Given the description of an element on the screen output the (x, y) to click on. 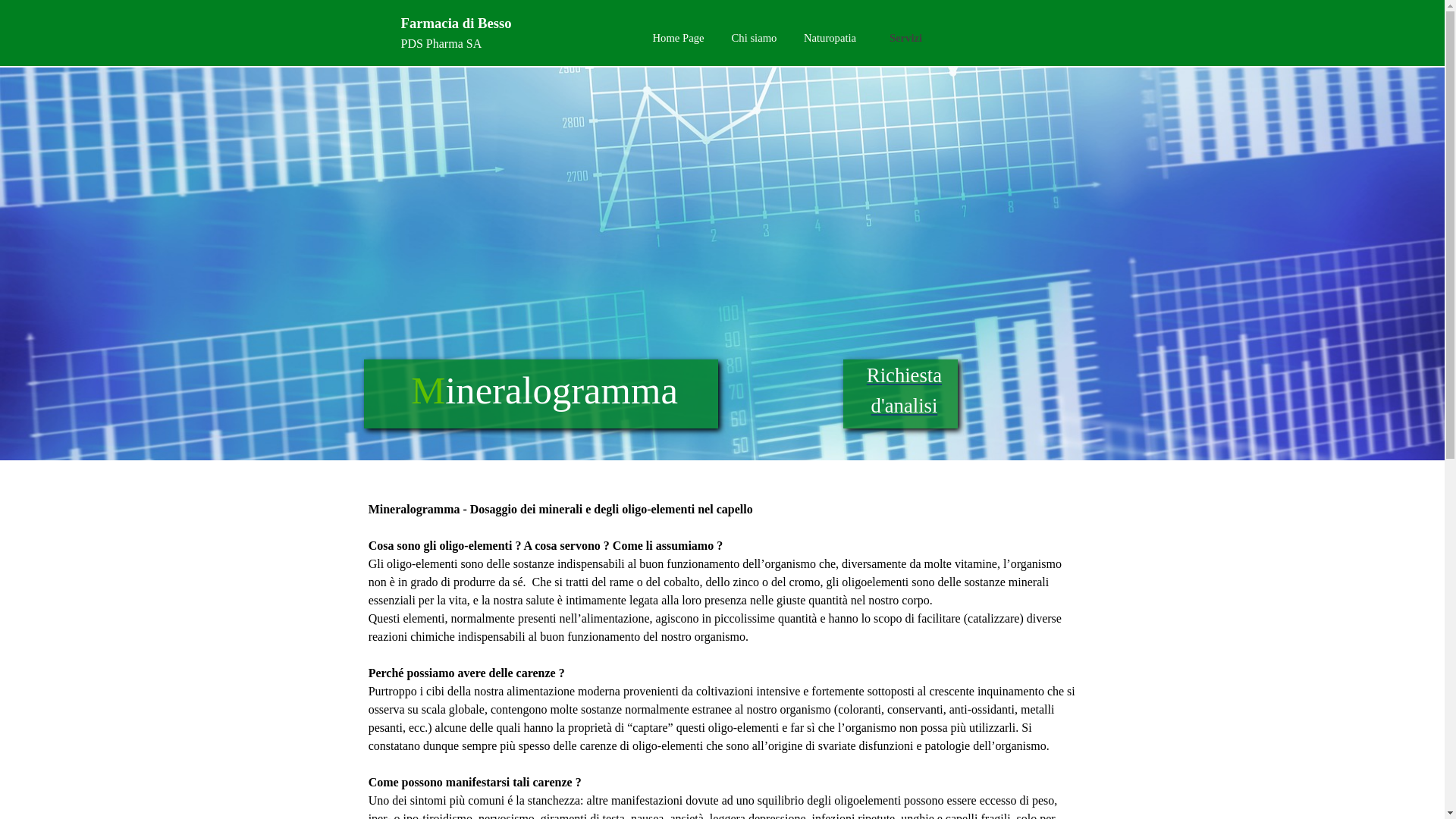
Home Page Element type: text (677, 37)
Richiesta d'analisi Element type: text (903, 390)
